Given the description of an element on the screen output the (x, y) to click on. 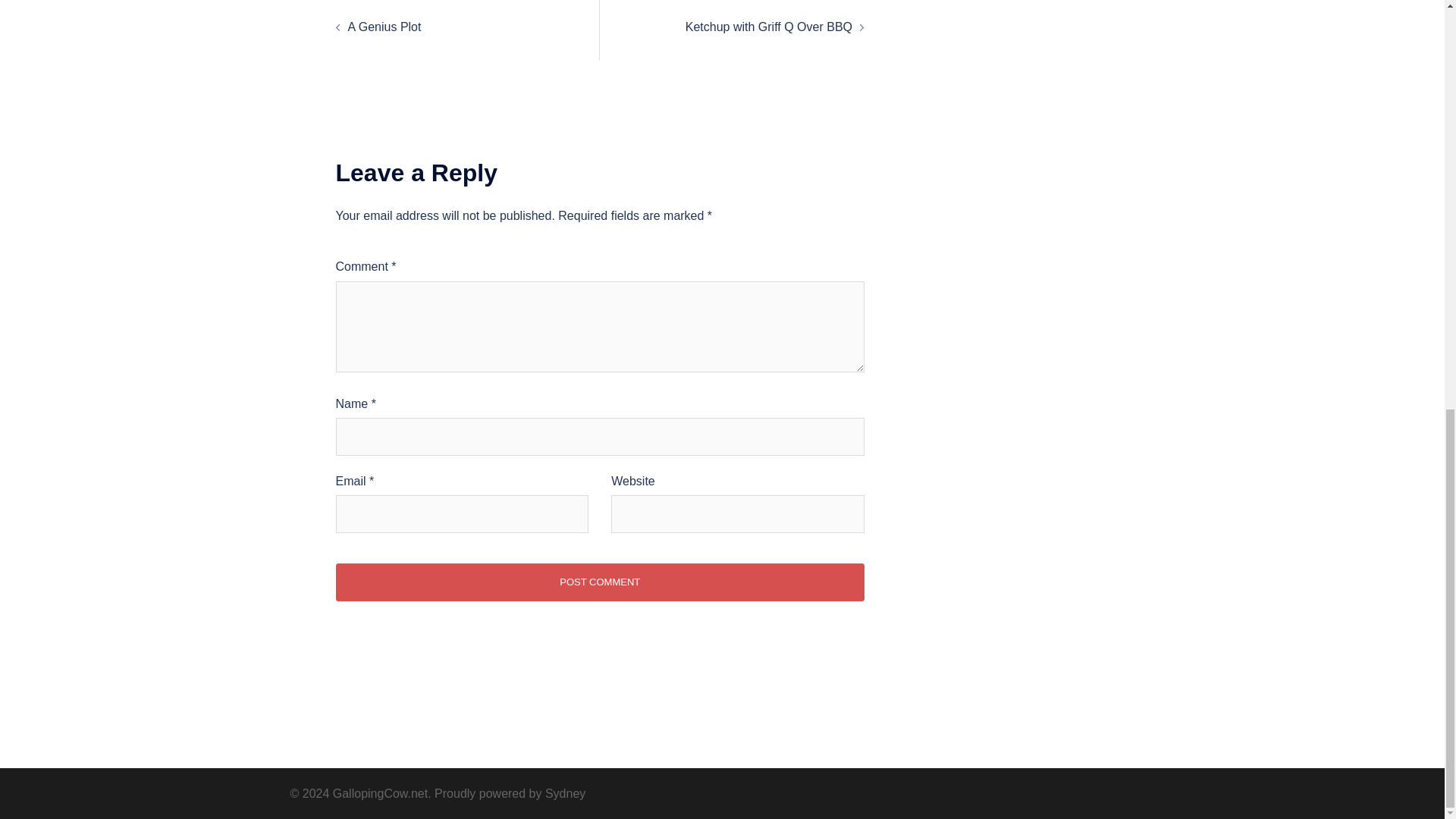
Ketchup with Griff Q Over BBQ (768, 26)
Post Comment (599, 582)
A Genius Plot (383, 26)
Post Comment (599, 582)
Sydney (564, 793)
